Given the description of an element on the screen output the (x, y) to click on. 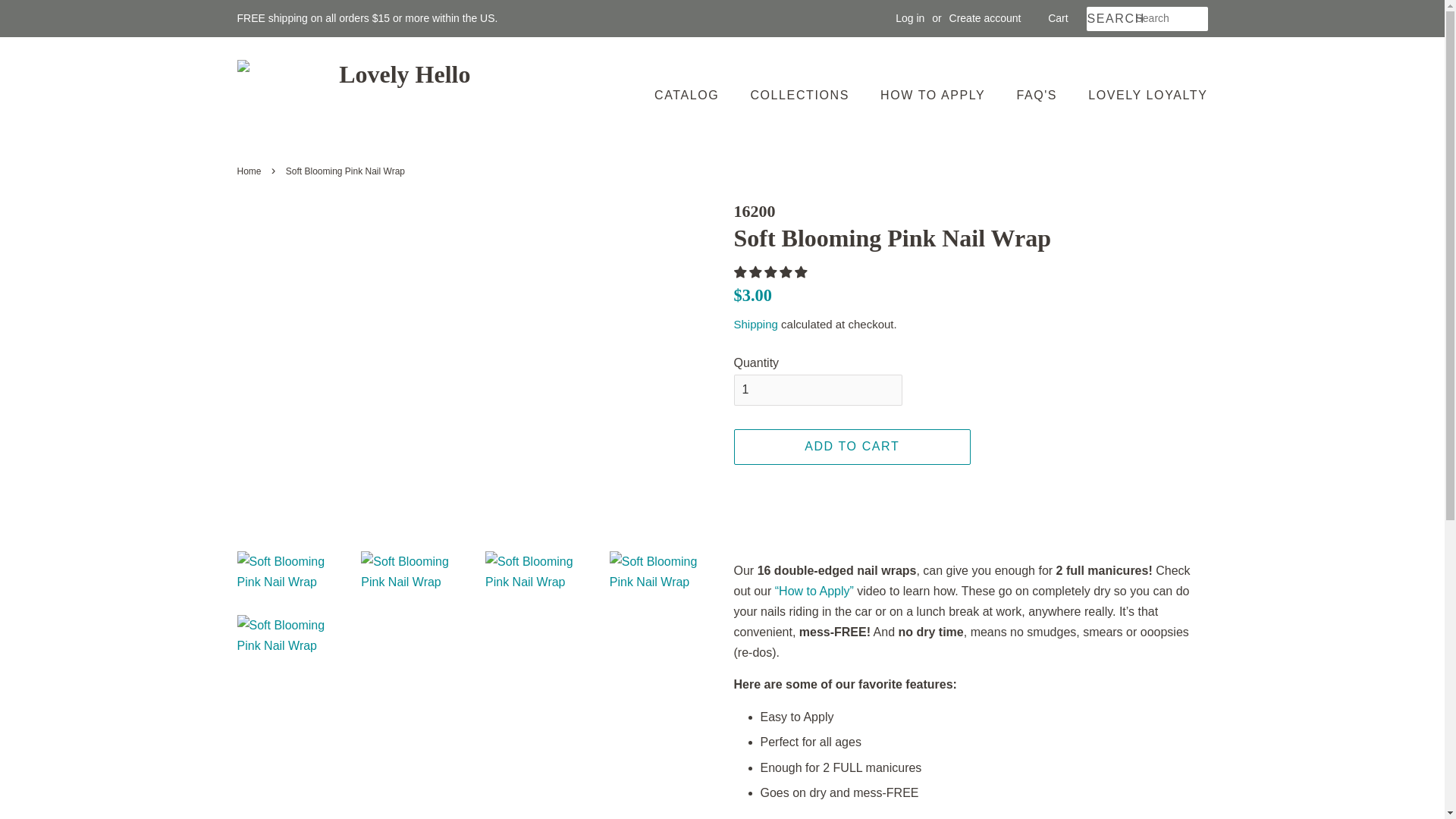
COLLECTIONS (801, 94)
CATALOG (693, 94)
HOW TO APPLY (934, 94)
ADD TO CART (852, 447)
Home (249, 171)
LOVELY LOYALTY (1142, 94)
SEARCH (1110, 18)
FAQ'S (1037, 94)
Create account (985, 18)
Back to the frontpage (249, 171)
1 (817, 389)
Shipping (755, 323)
Log in (909, 18)
How to Apply Nail Wraps (813, 590)
Cart (1057, 18)
